Given the description of an element on the screen output the (x, y) to click on. 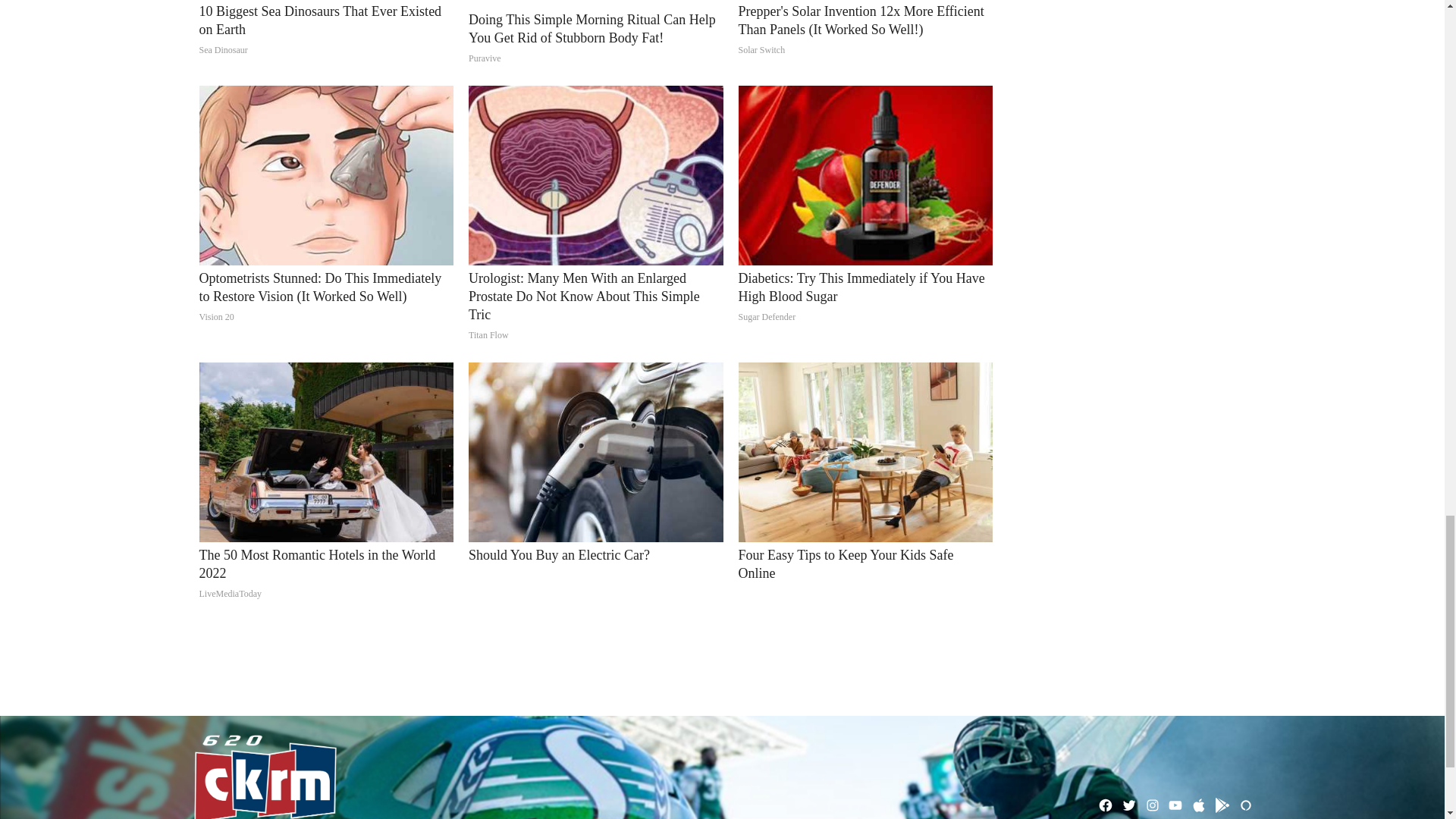
3rd party ad content (721, 670)
